Given the description of an element on the screen output the (x, y) to click on. 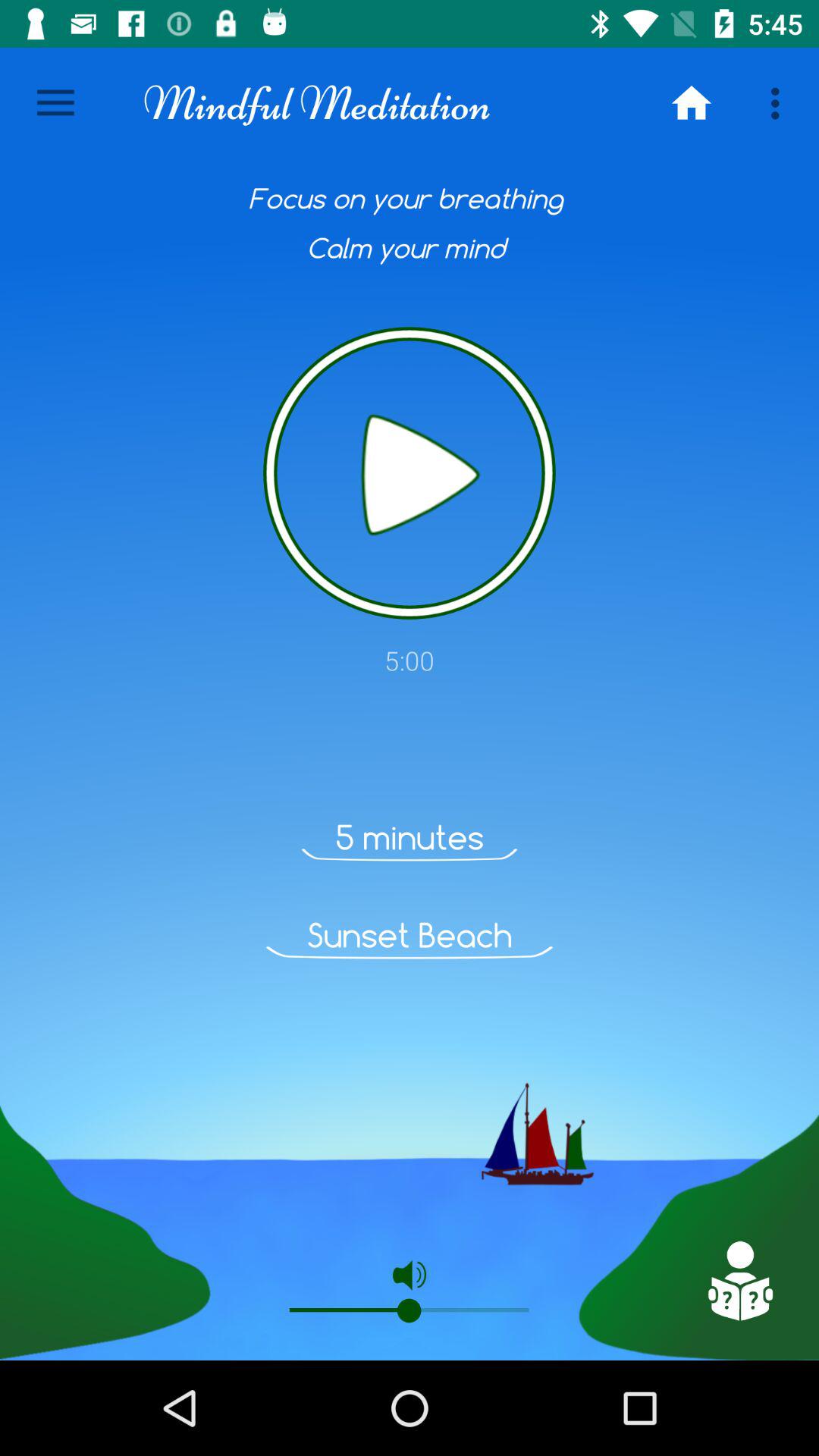
click icon at the top left corner (55, 103)
